Given the description of an element on the screen output the (x, y) to click on. 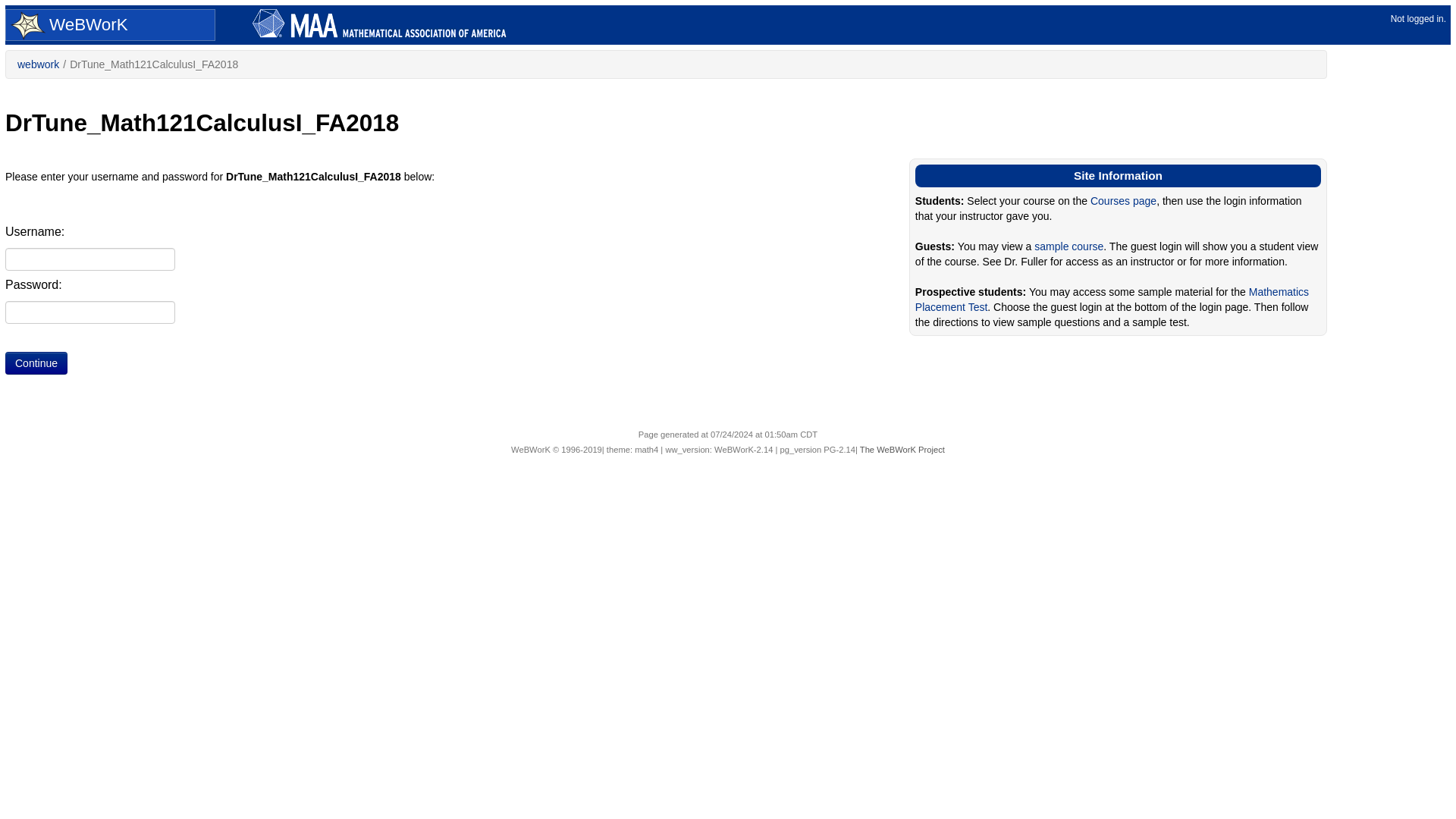
sample course (1068, 246)
WeBWorK (108, 25)
Continue (35, 363)
webwork (38, 64)
Continue (35, 363)
Courses page (1123, 200)
The WeBWorK Project (902, 449)
Mathematics Placement Test (1111, 298)
